Given the description of an element on the screen output the (x, y) to click on. 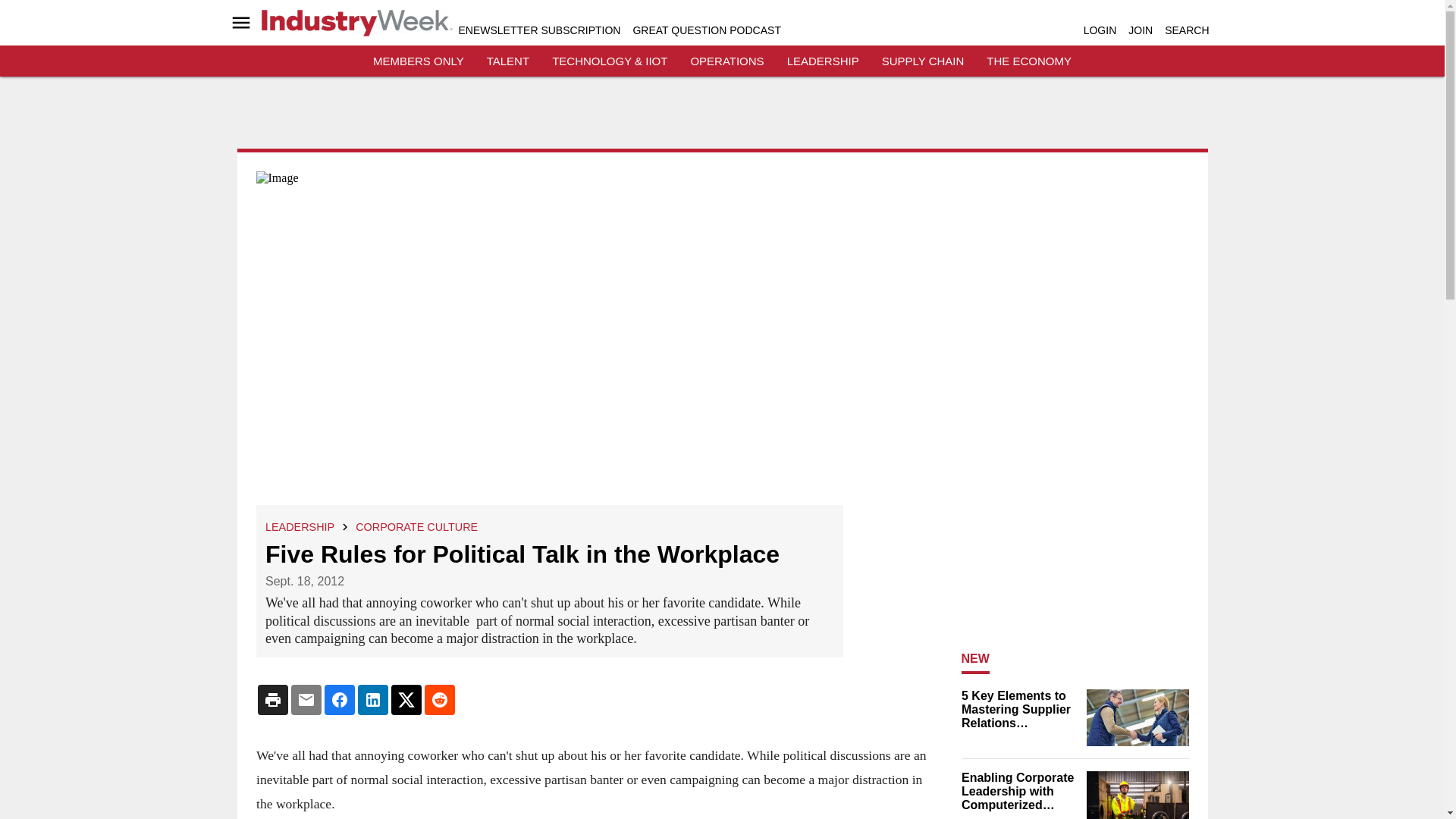
TALENT (507, 60)
THE ECONOMY (1029, 60)
OPERATIONS (726, 60)
JOIN (1140, 30)
SUPPLY CHAIN (922, 60)
LOGIN (1099, 30)
MEMBERS ONLY (418, 60)
LEADERSHIP (299, 526)
ENEWSLETTER SUBSCRIPTION (539, 30)
